Given the description of an element on the screen output the (x, y) to click on. 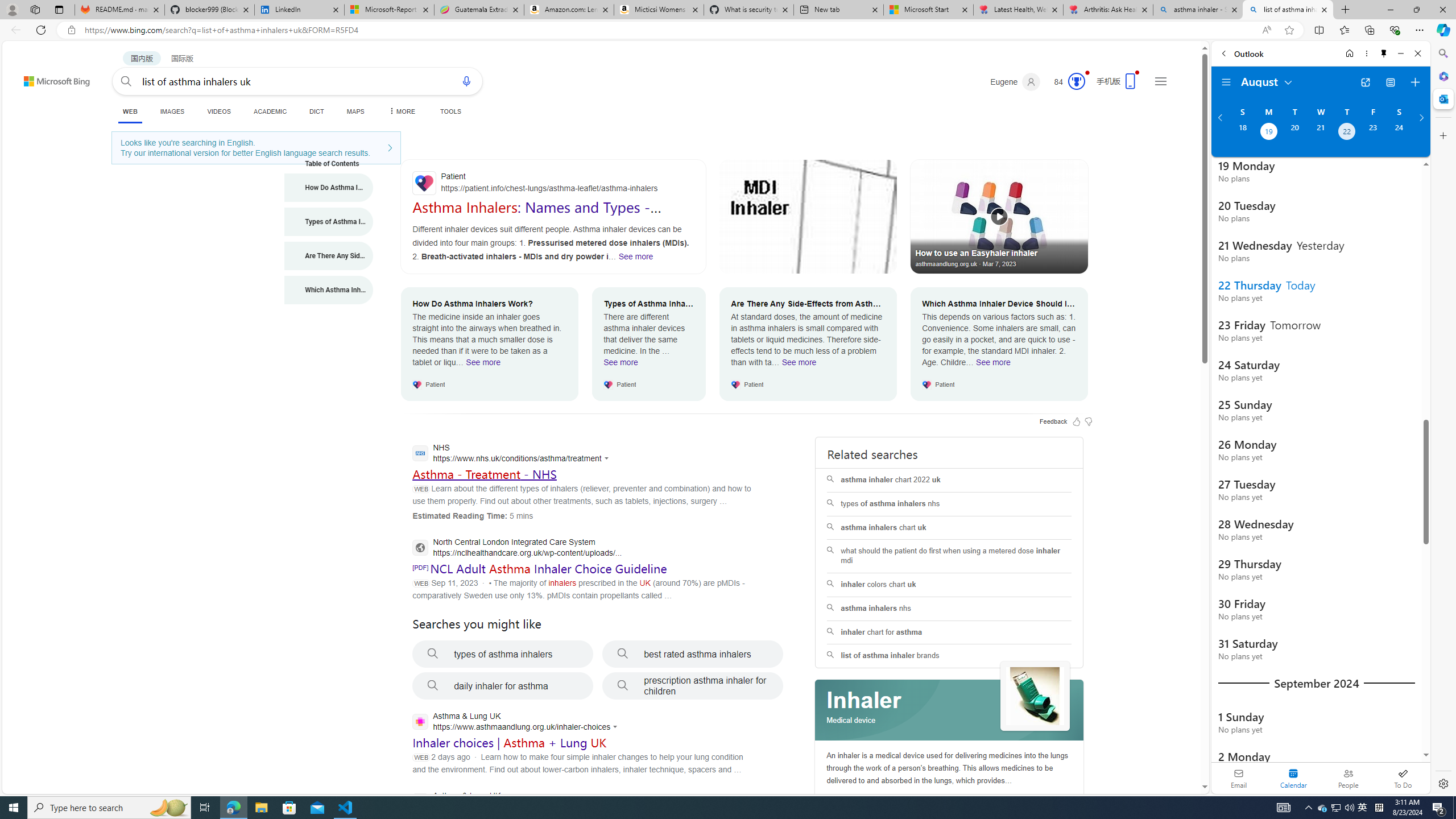
asthma inhalers nhs (949, 608)
